Given the description of an element on the screen output the (x, y) to click on. 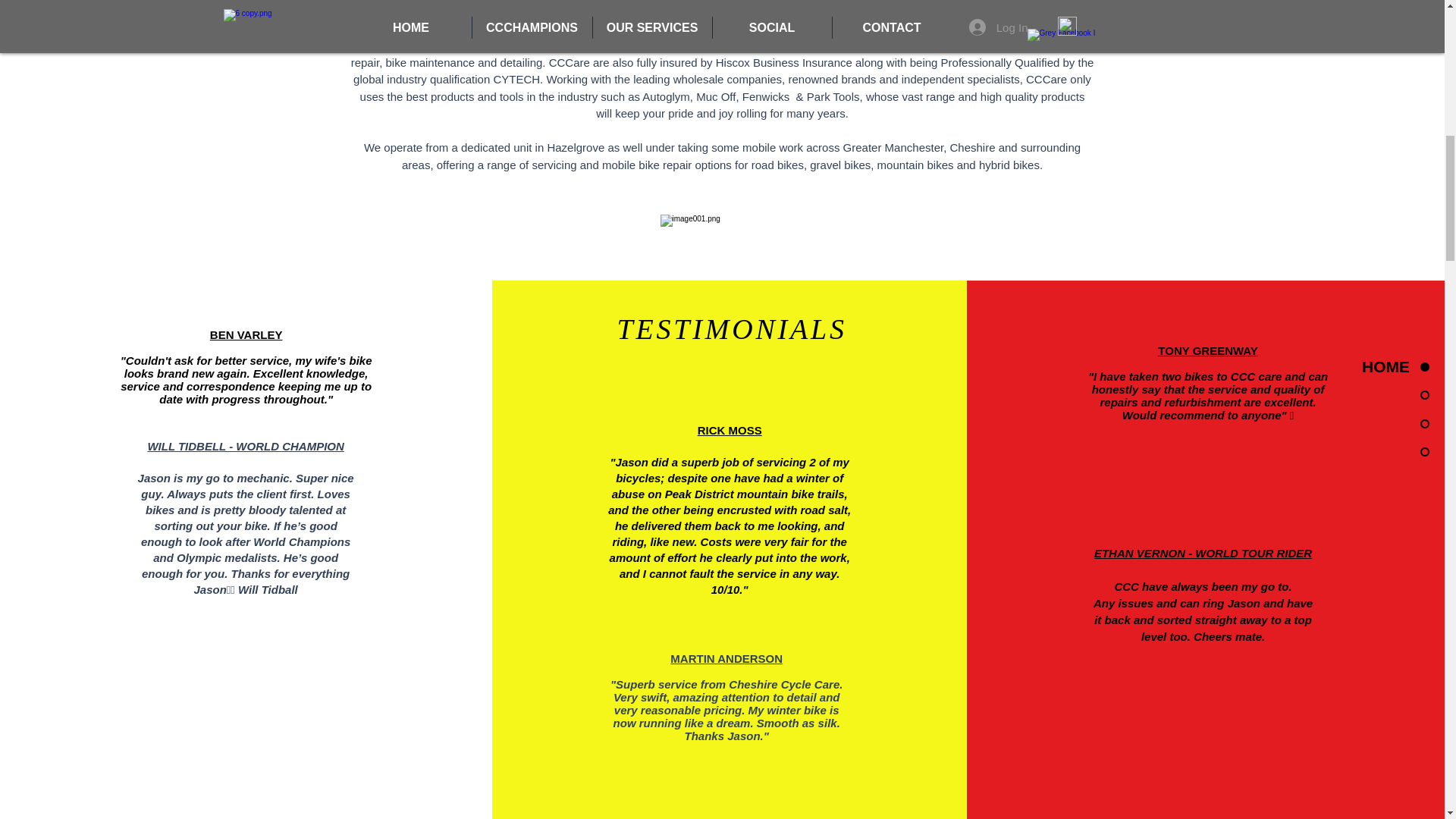
MARTIN ANDERSON (726, 658)
BEN VARLEY (245, 334)
RICK MOSS (729, 430)
TONY GREENWAY (1207, 350)
